Given the description of an element on the screen output the (x, y) to click on. 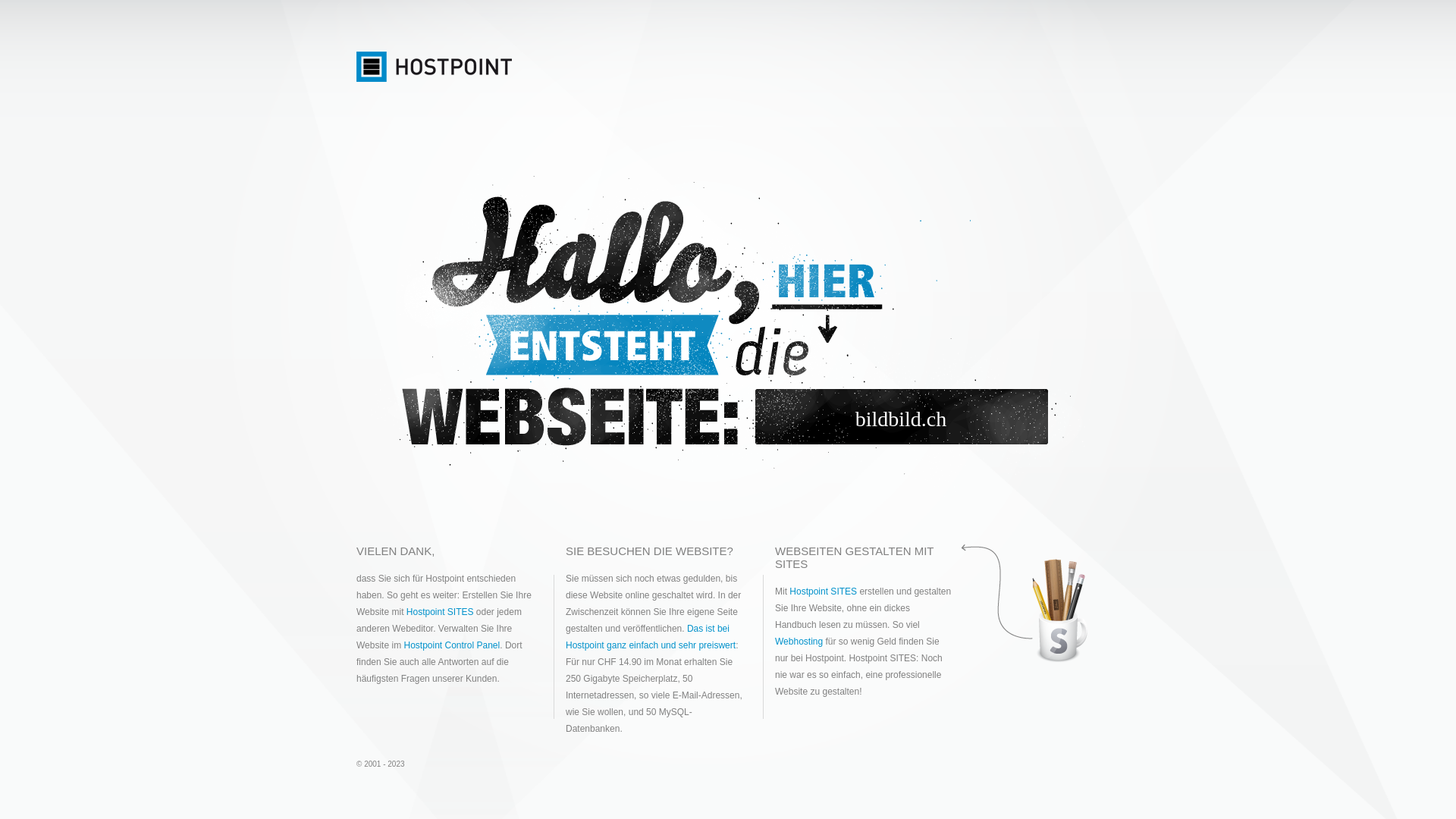
Hostpoint Control Panel Element type: text (451, 645)
Das ist bei Hostpoint ganz einfach und sehr preiswert Element type: text (650, 636)
Hostpoint SITES Element type: text (439, 611)
Webhosting Element type: text (798, 641)
Hostpoint SITES Element type: text (822, 591)
